Given the description of an element on the screen output the (x, y) to click on. 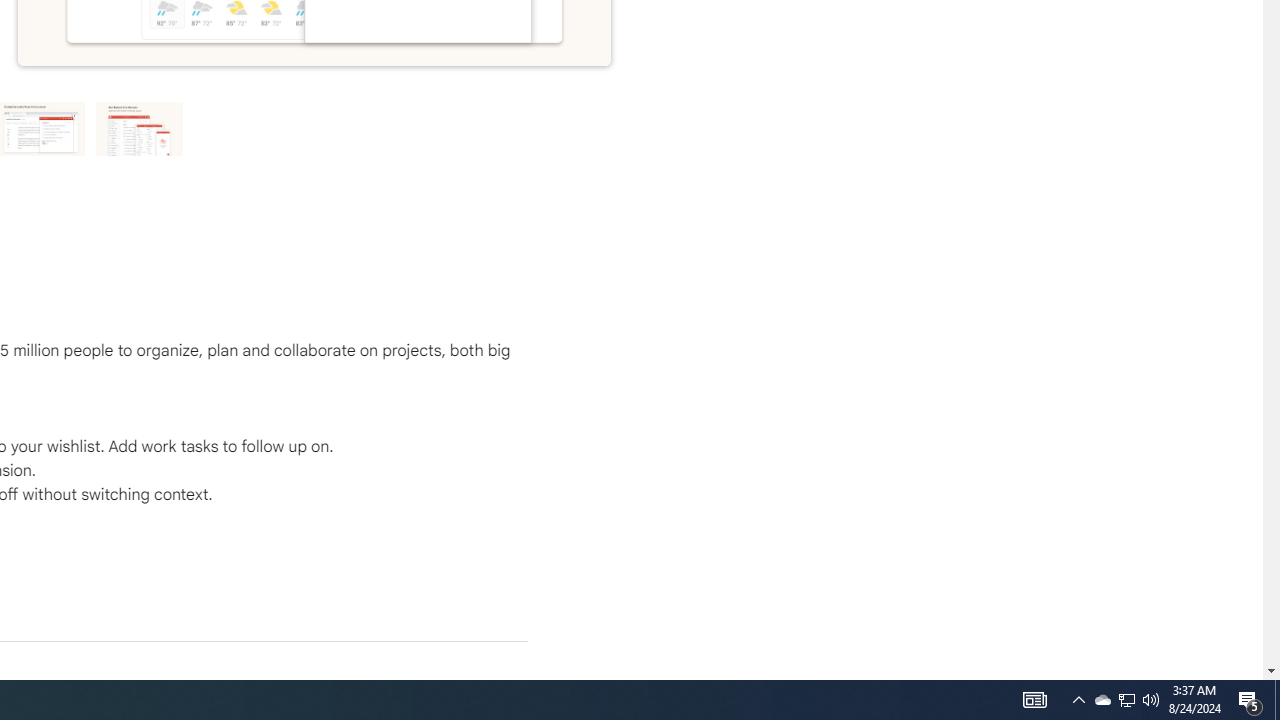
Preview slide 4 (140, 128)
